Given the description of an element on the screen output the (x, y) to click on. 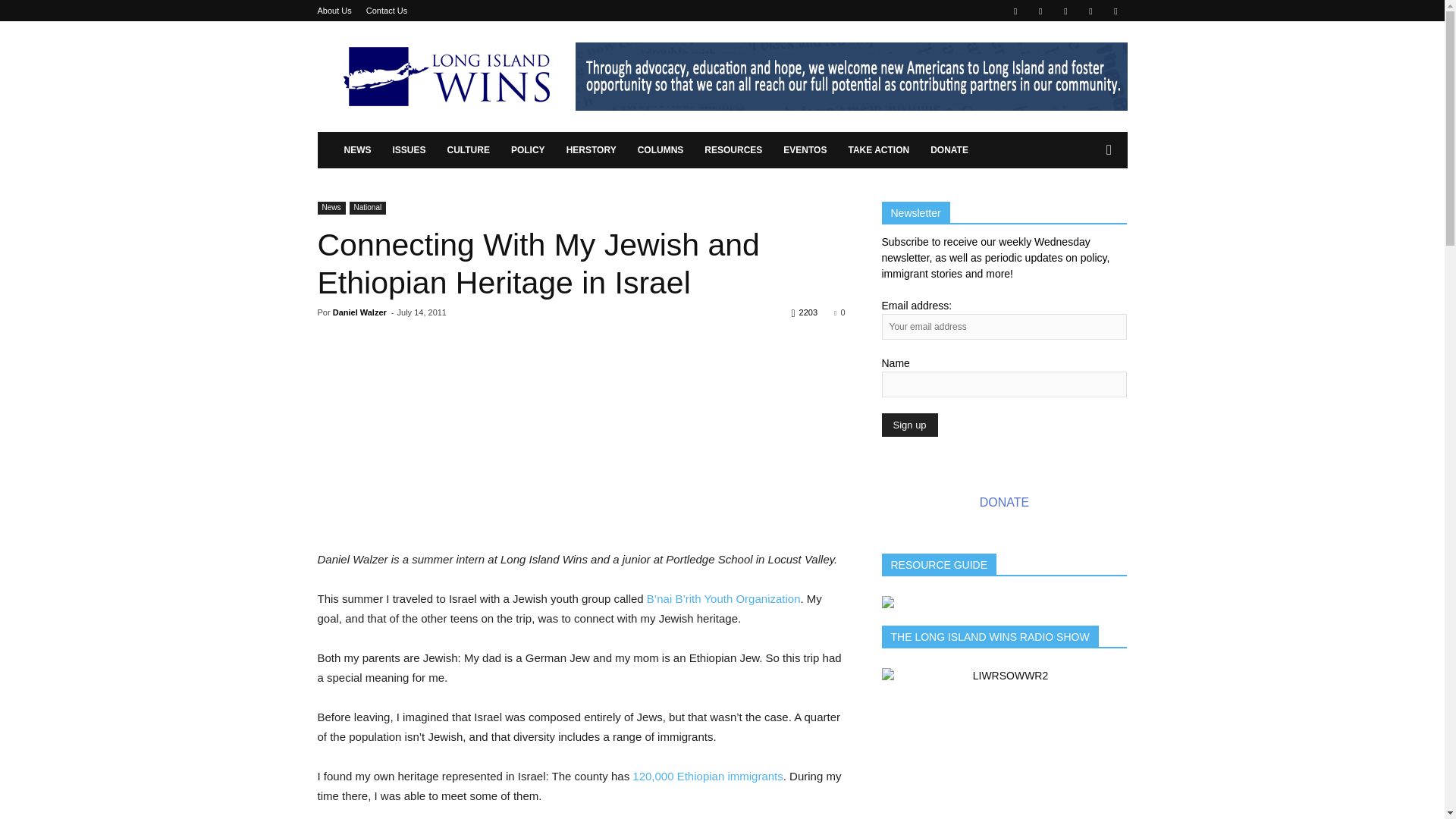
Facebook (1015, 10)
Sign up (908, 424)
Twitter (1090, 10)
Soundcloud (1065, 10)
Instagram (1040, 10)
Youtube (1114, 10)
